Given the description of an element on the screen output the (x, y) to click on. 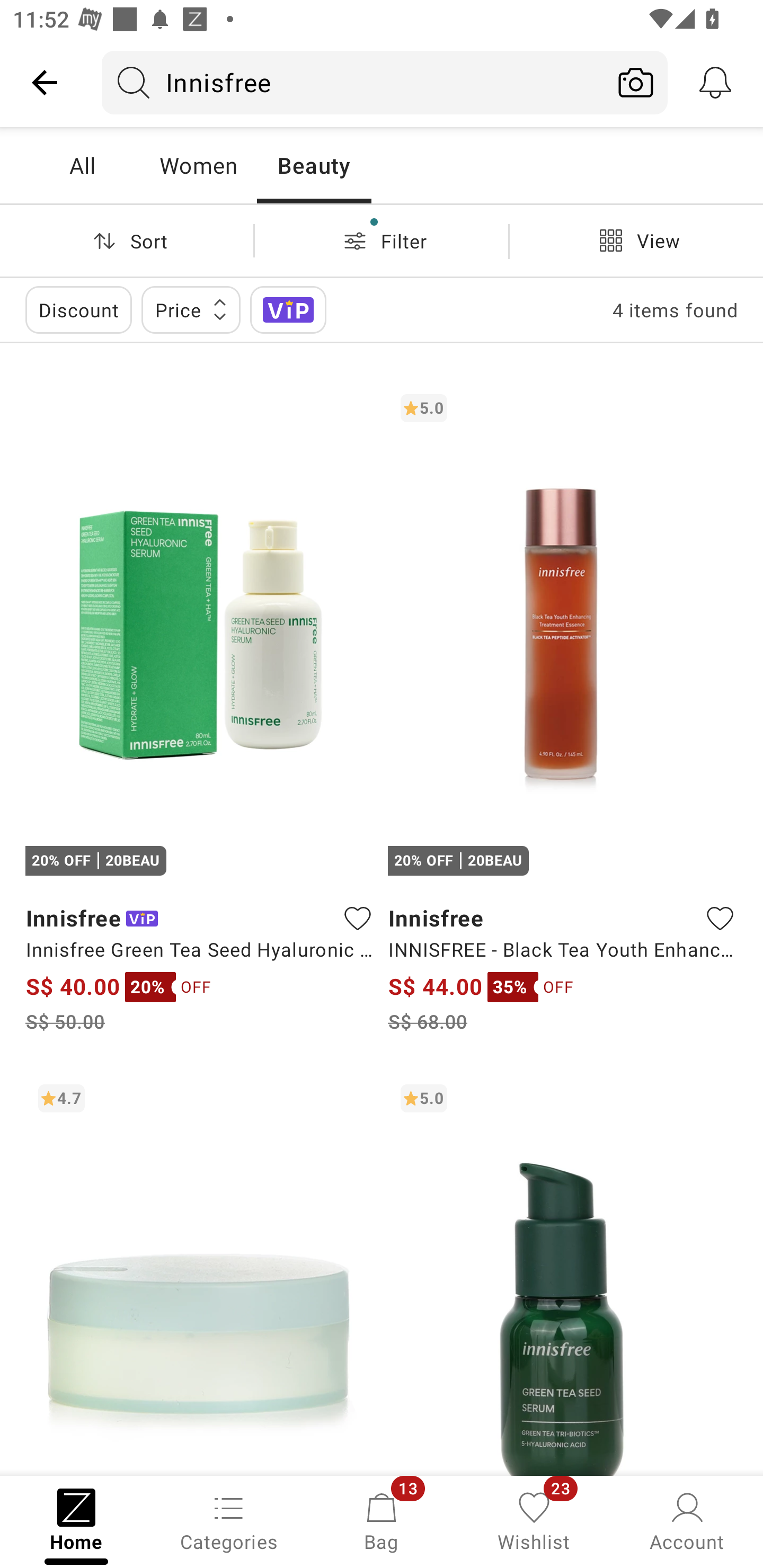
Navigate up (44, 82)
Innisfree (352, 82)
All (82, 165)
Women (198, 165)
Sort (126, 240)
Filter (381, 240)
View (636, 240)
Discount (78, 309)
Price (190, 309)
4.7 (200, 1272)
5.0 (562, 1272)
Categories (228, 1519)
Bag, 13 new notifications Bag (381, 1519)
Wishlist, 23 new notifications Wishlist (533, 1519)
Account (686, 1519)
